Given the description of an element on the screen output the (x, y) to click on. 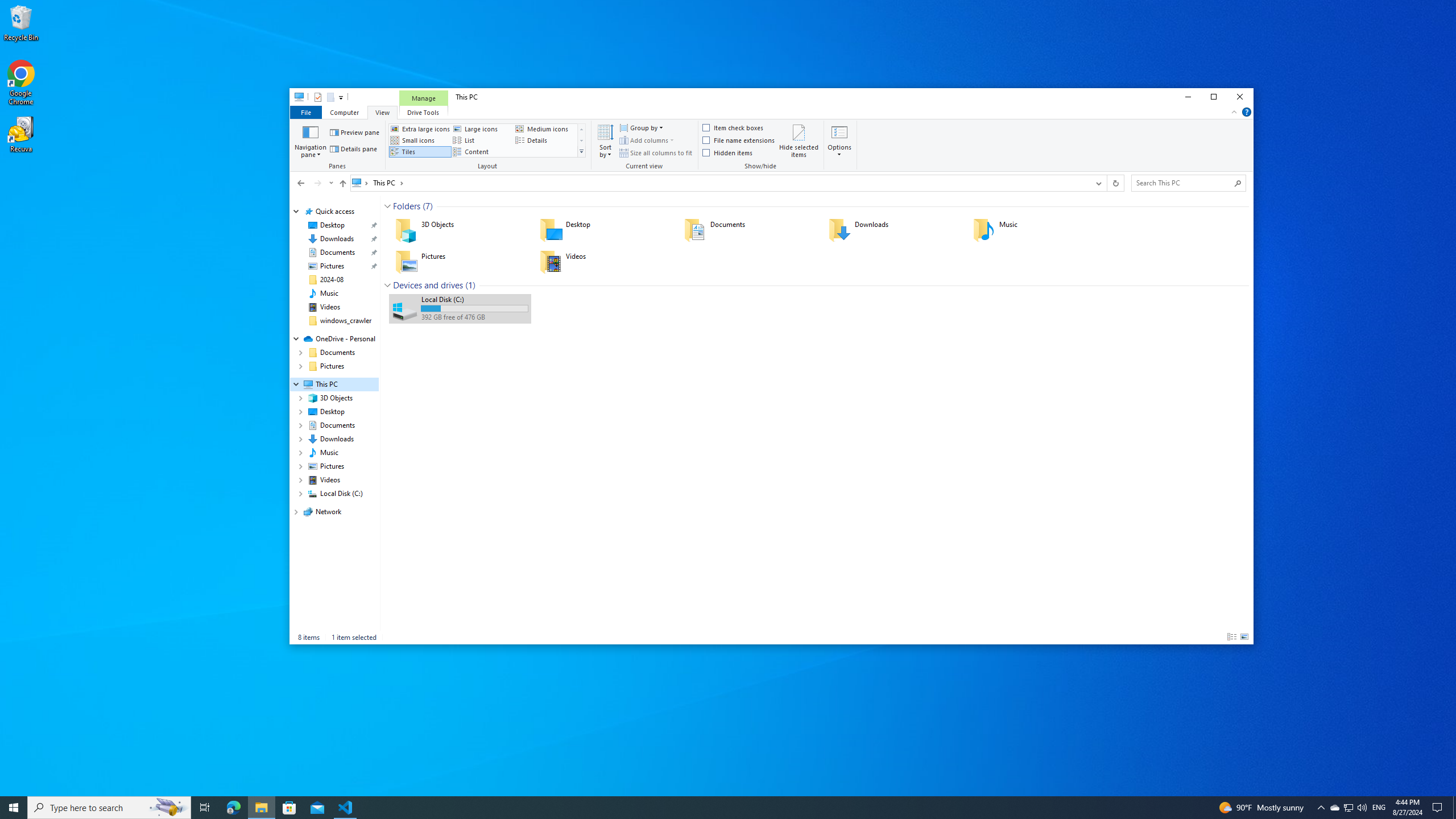
Details (544, 140)
Options (840, 150)
Back to Local Disk (C:) (Alt + Left Arrow) (300, 182)
Medium icons (544, 129)
Maximize (1214, 96)
Quick access (334, 211)
Previous Locations (1097, 182)
Drive Tools (422, 111)
Local Disk (C:) (459, 308)
List (482, 140)
Videos (603, 261)
Quick Access Toolbar (323, 96)
2024-08 (331, 279)
Pictures (459, 261)
